Given the description of an element on the screen output the (x, y) to click on. 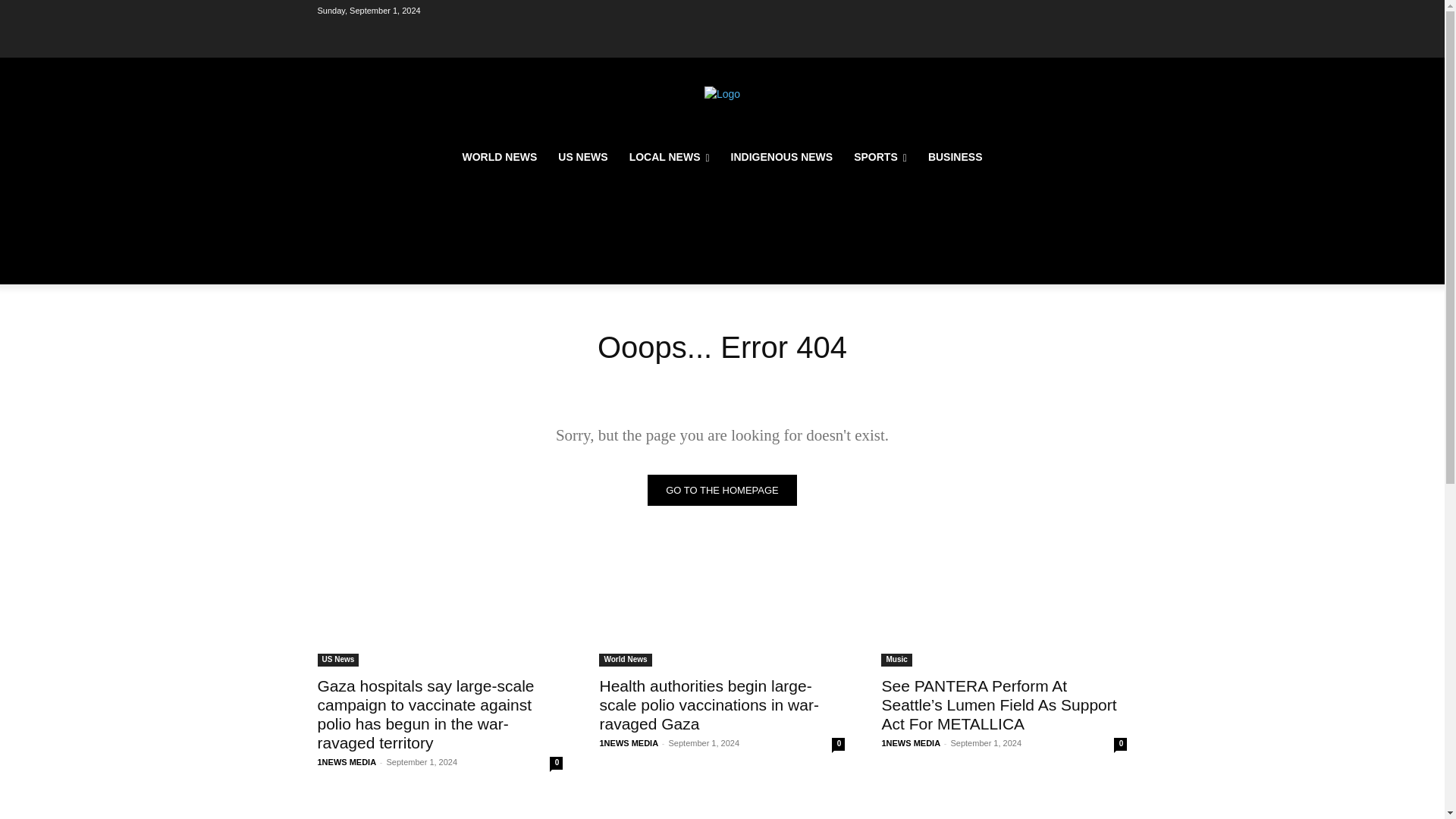
1NEWS MEDIA (346, 761)
INDIGENOUS NEWS (782, 156)
Go to the homepage (721, 490)
GO TO THE HOMEPAGE (721, 490)
LOCAL NEWS (669, 156)
Music (895, 659)
